Given the description of an element on the screen output the (x, y) to click on. 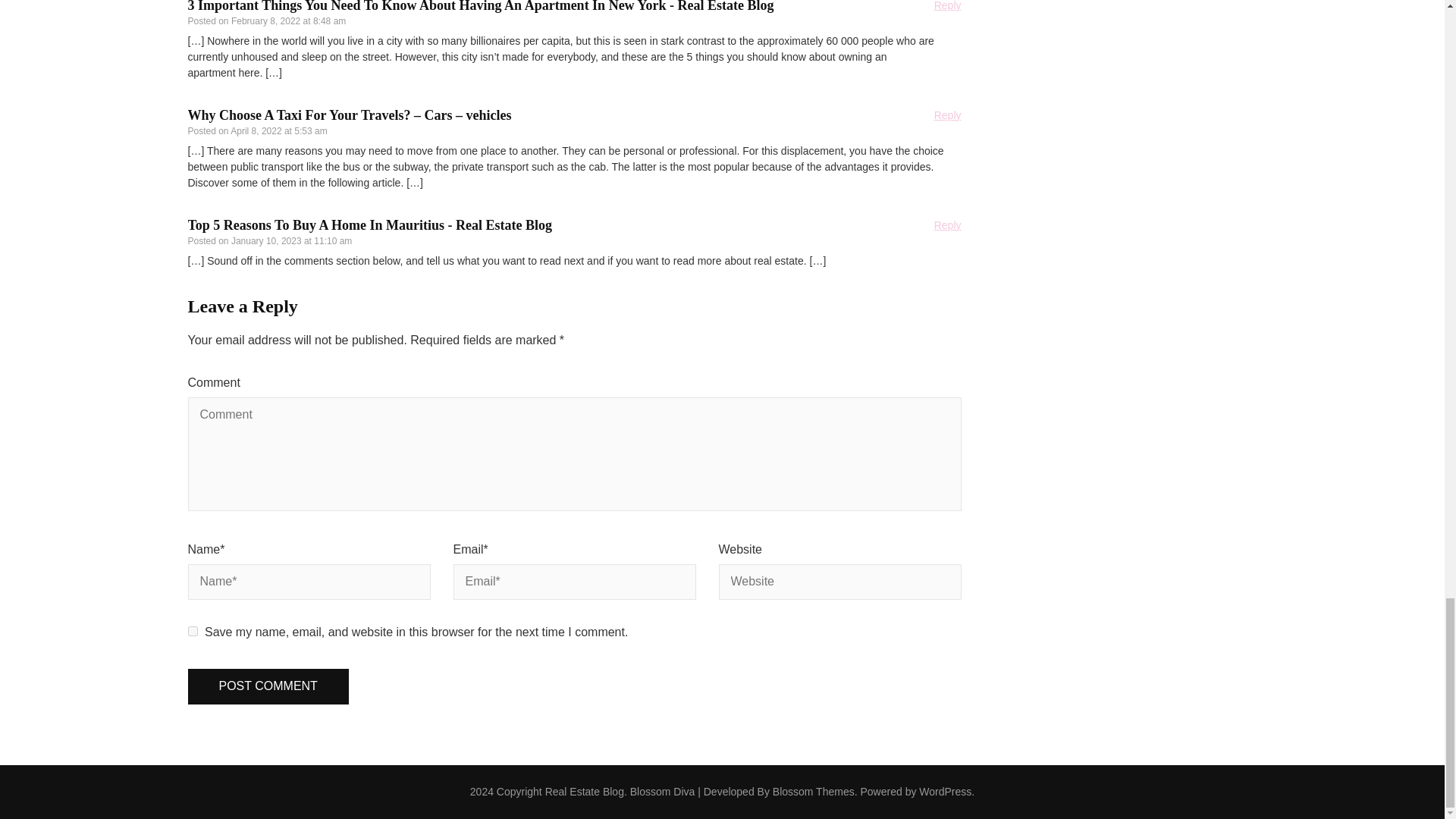
April 8, 2022 at 5:53 am (278, 131)
Reply (947, 5)
Reply (947, 114)
Post Comment (268, 686)
yes (192, 631)
February 8, 2022 at 8:48 am (288, 20)
